Given the description of an element on the screen output the (x, y) to click on. 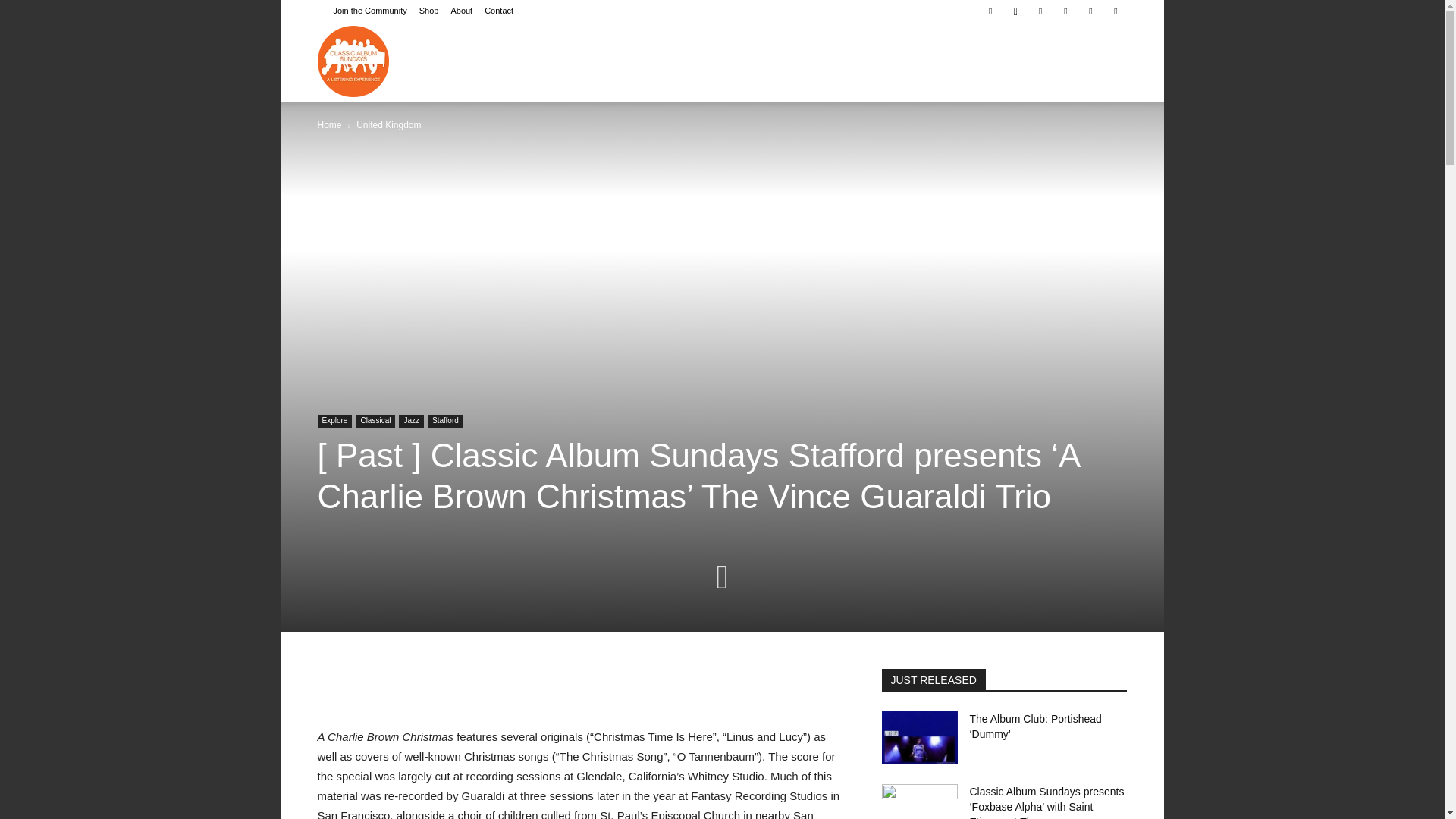
Pinterest (1040, 10)
Twitter (1090, 10)
Join the Community (370, 10)
Shop (429, 10)
About (460, 10)
Instagram (1015, 10)
Spotify (1065, 10)
Facebook (989, 10)
Youtube (1114, 10)
